Given the description of an element on the screen output the (x, y) to click on. 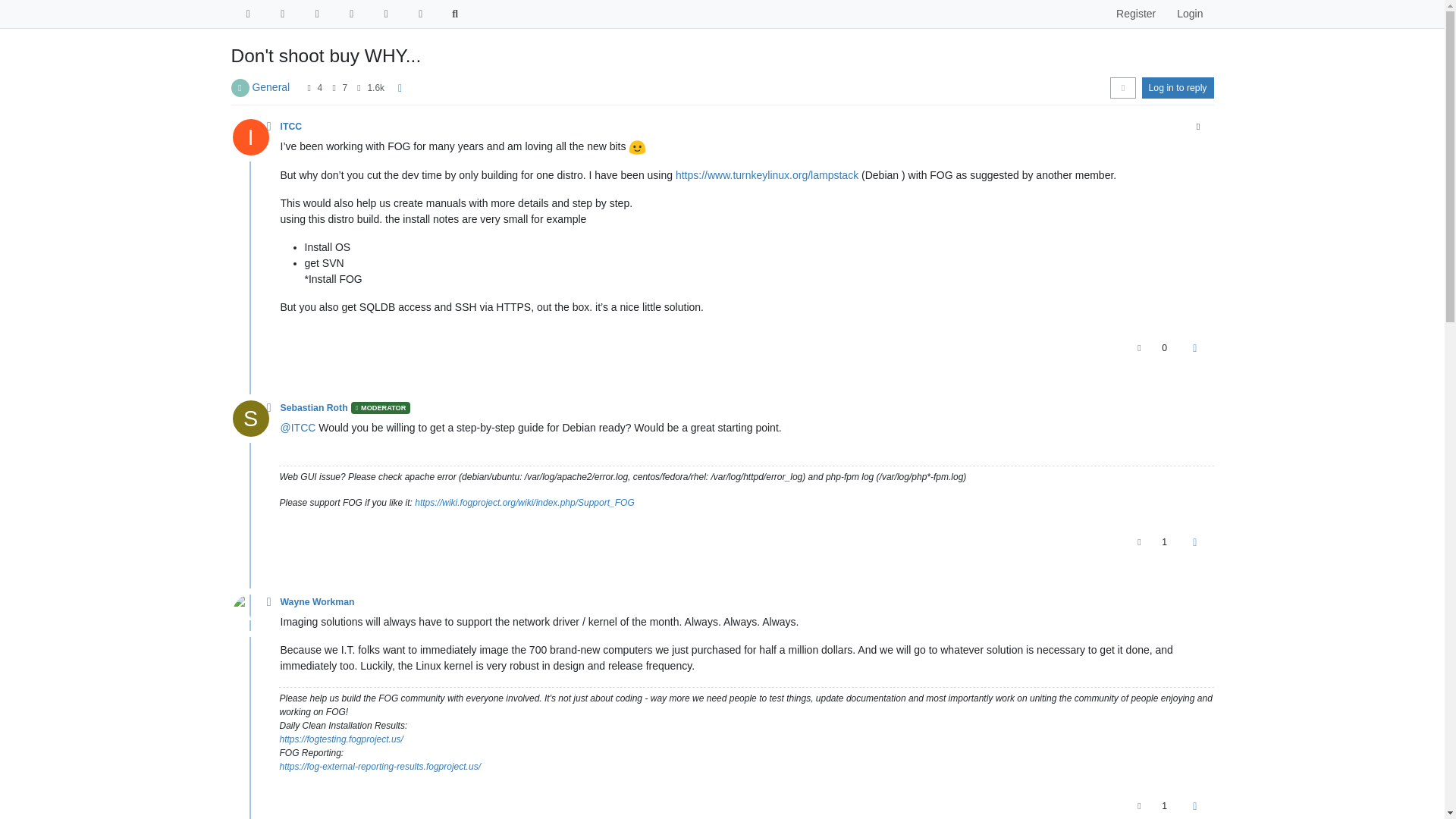
MODERATOR (380, 408)
Users (385, 13)
Search (455, 13)
ITCC (249, 136)
Log in to reply (1177, 87)
1623 (375, 87)
Popular (351, 13)
S (255, 422)
ITCC (291, 126)
Posts (334, 87)
